Given the description of an element on the screen output the (x, y) to click on. 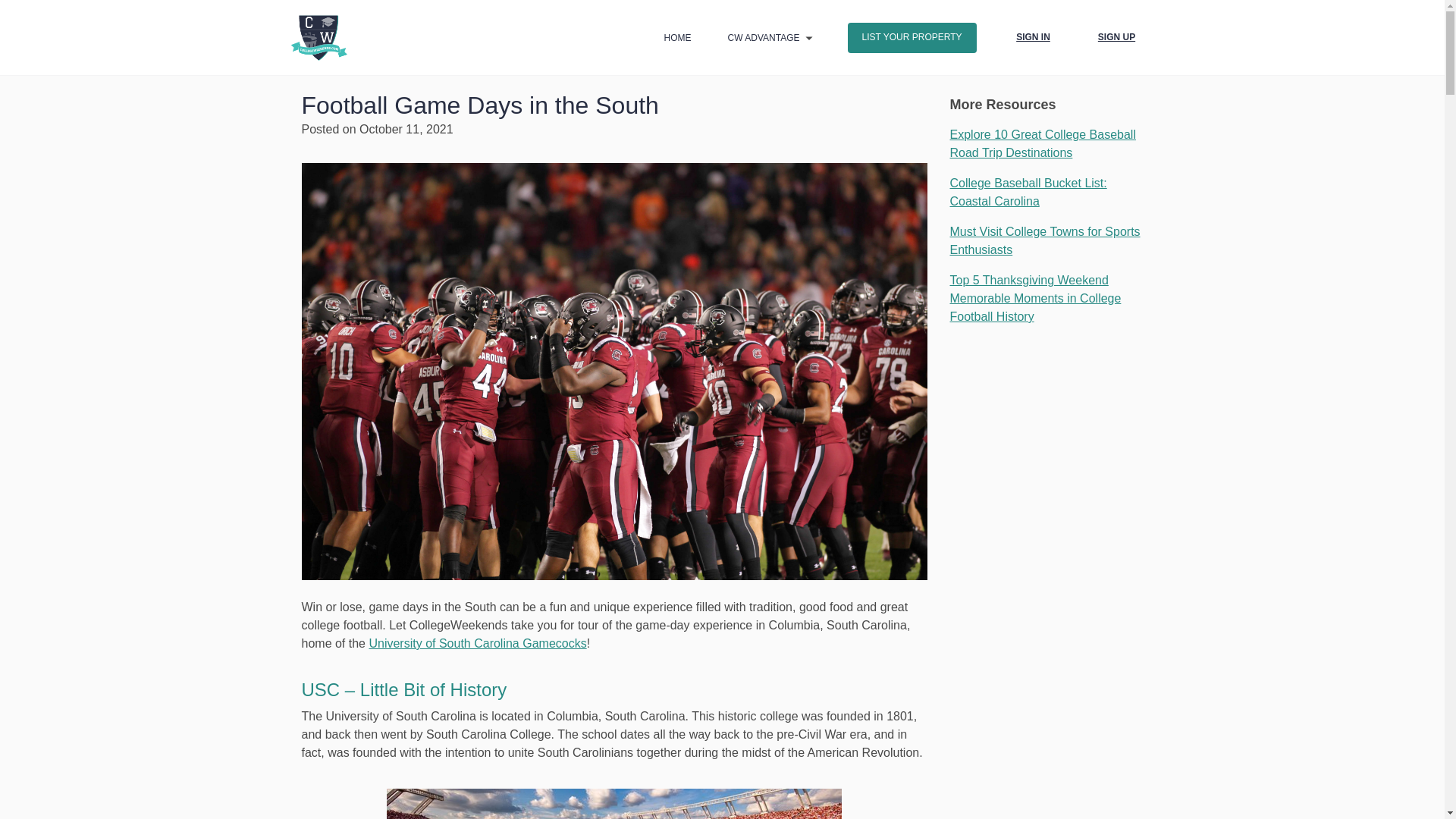
College Baseball Bucket List: Coastal Carolina (1027, 192)
Explore 10 Great College Baseball Road Trip Destinations (1042, 142)
CW ADVANTAGE (763, 37)
University of South Carolina Gamecocks (477, 643)
SIGN UP (1116, 37)
Must Visit College Towns for Sports Enthusiasts (1044, 240)
LIST YOUR PROPERTY (911, 37)
SIGN IN (1032, 37)
